Given the description of an element on the screen output the (x, y) to click on. 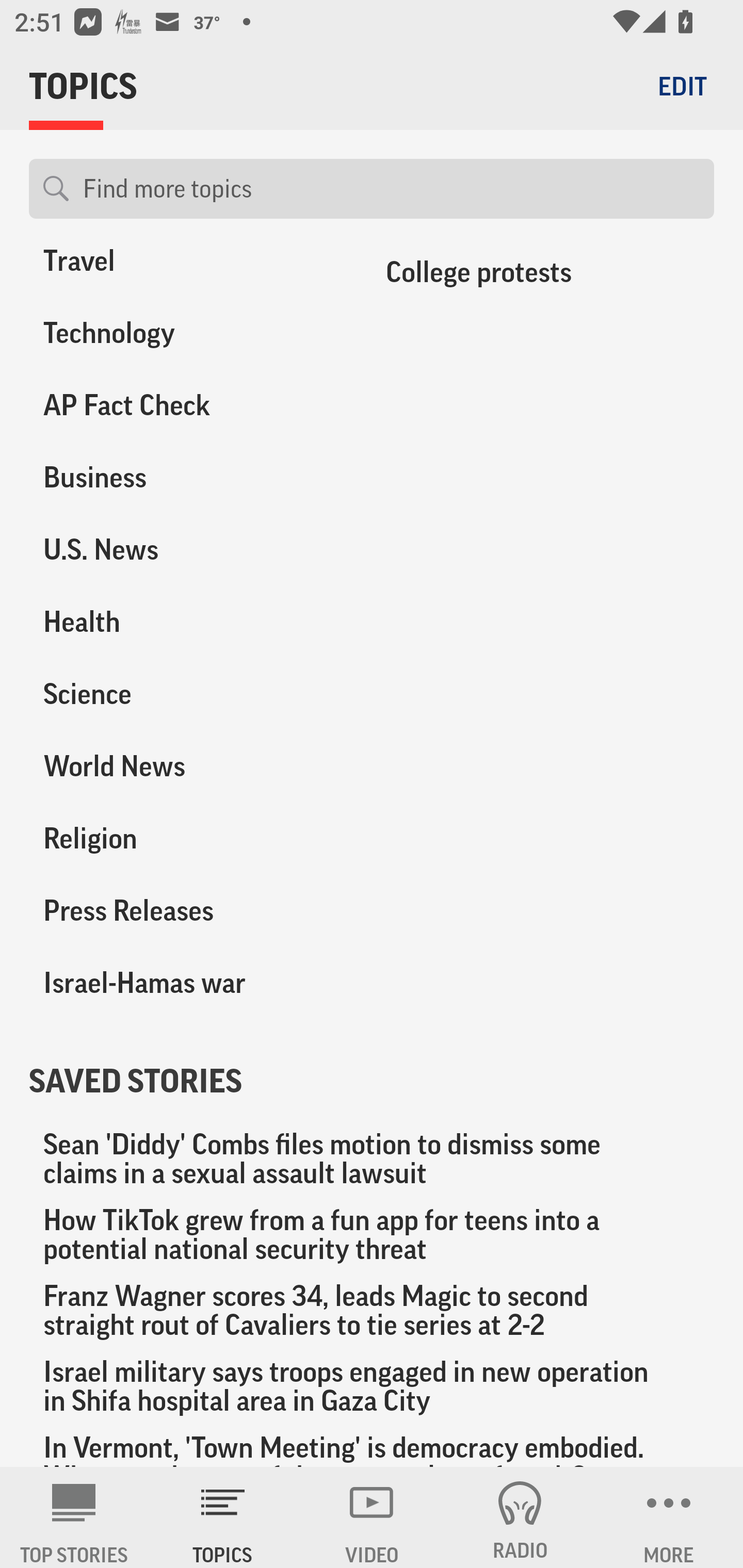
EDIT (682, 86)
Find more topics (391, 188)
Travel (185, 271)
College protests (542, 277)
Technology (185, 333)
AP Fact Check (185, 406)
Business (185, 478)
U.S. News (185, 550)
Health (185, 622)
Science (185, 694)
World News (185, 766)
Religion (185, 838)
Press Releases (185, 910)
Israel-Hamas war (185, 983)
AP News TOP STORIES (74, 1517)
TOPICS (222, 1517)
VIDEO (371, 1517)
RADIO (519, 1517)
MORE (668, 1517)
